Given the description of an element on the screen output the (x, y) to click on. 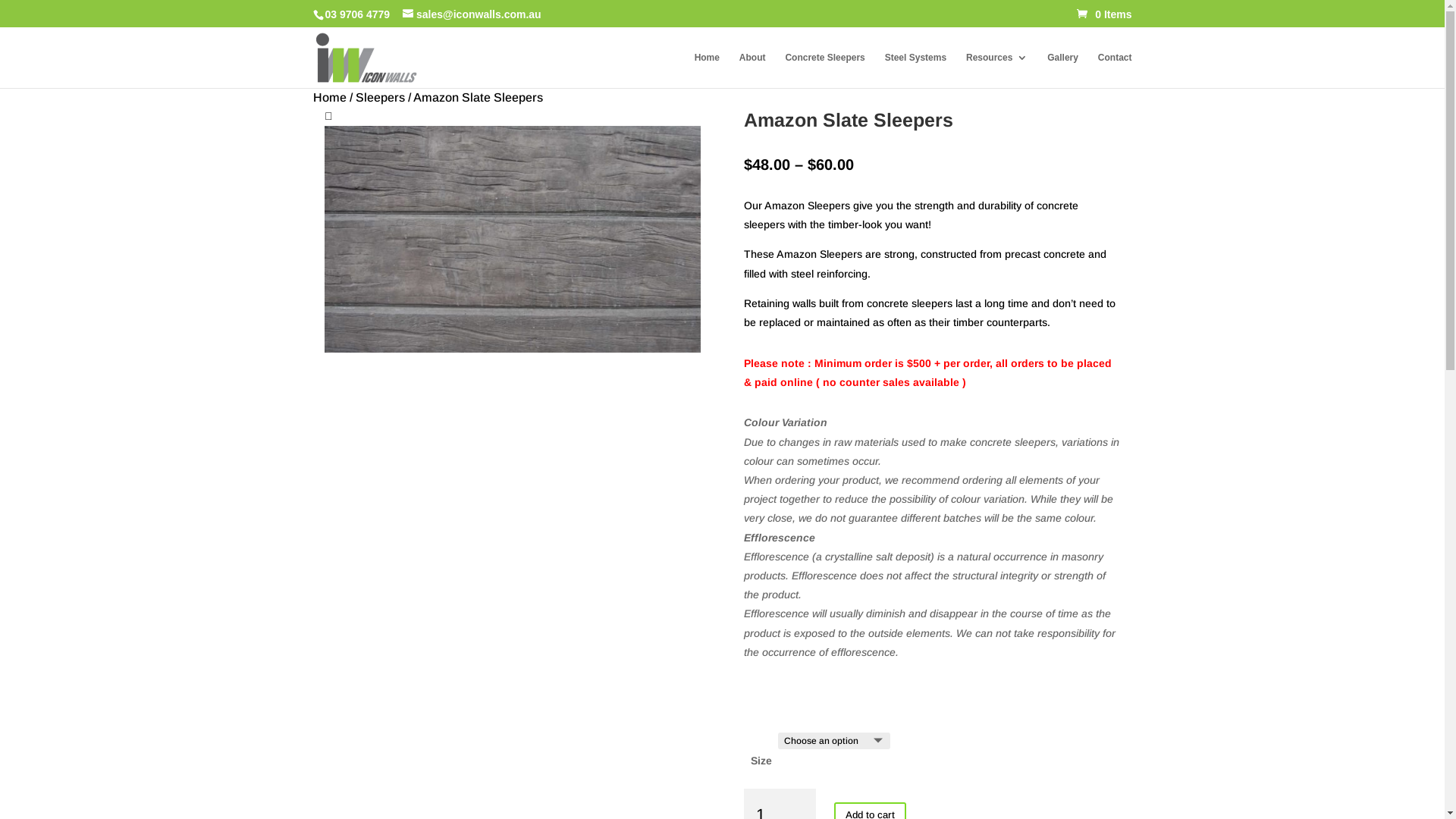
Gallery Element type: text (1062, 69)
Sleepers Element type: text (379, 97)
Contact Element type: text (1115, 69)
Concrete Sleepers Element type: text (824, 69)
Steel Systems Element type: text (915, 69)
Amazon.jpg Element type: hover (512, 238)
Home Element type: text (328, 97)
0 Items Element type: text (1103, 13)
Resources Element type: text (996, 69)
sales@iconwalls.com.au Element type: text (471, 13)
About Element type: text (752, 69)
Home Element type: text (706, 69)
